Given the description of an element on the screen output the (x, y) to click on. 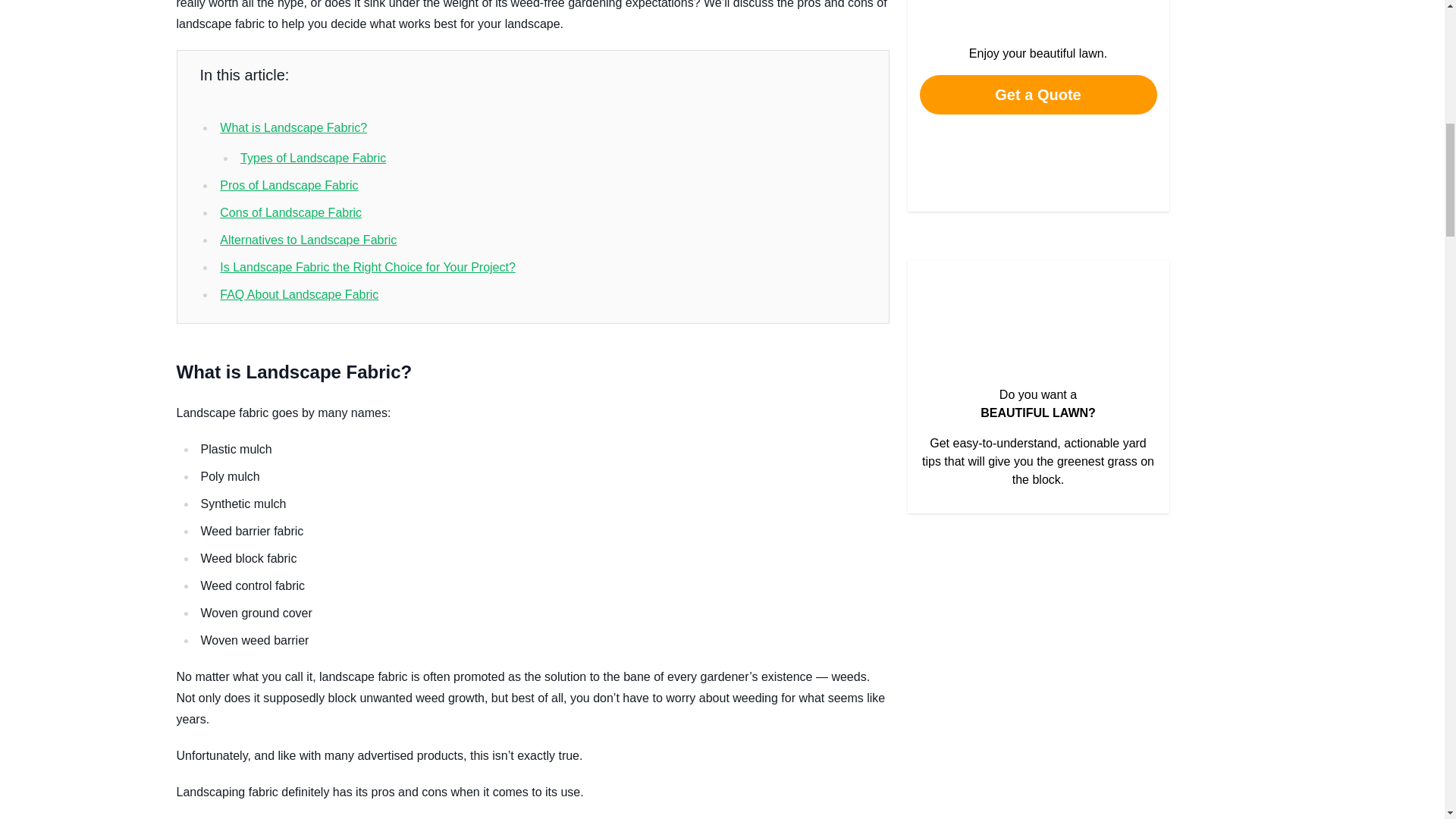
FAQ About Landscape Fabric (298, 294)
Is Landscape Fabric the Right Choice for Your Project? (367, 267)
Alternatives to Landscape Fabric (307, 239)
Pros of Landscape Fabric (288, 185)
What is Landscape Fabric? (292, 127)
Types of Landscape Fabric (312, 157)
Cons of Landscape Fabric (290, 212)
